Given the description of an element on the screen output the (x, y) to click on. 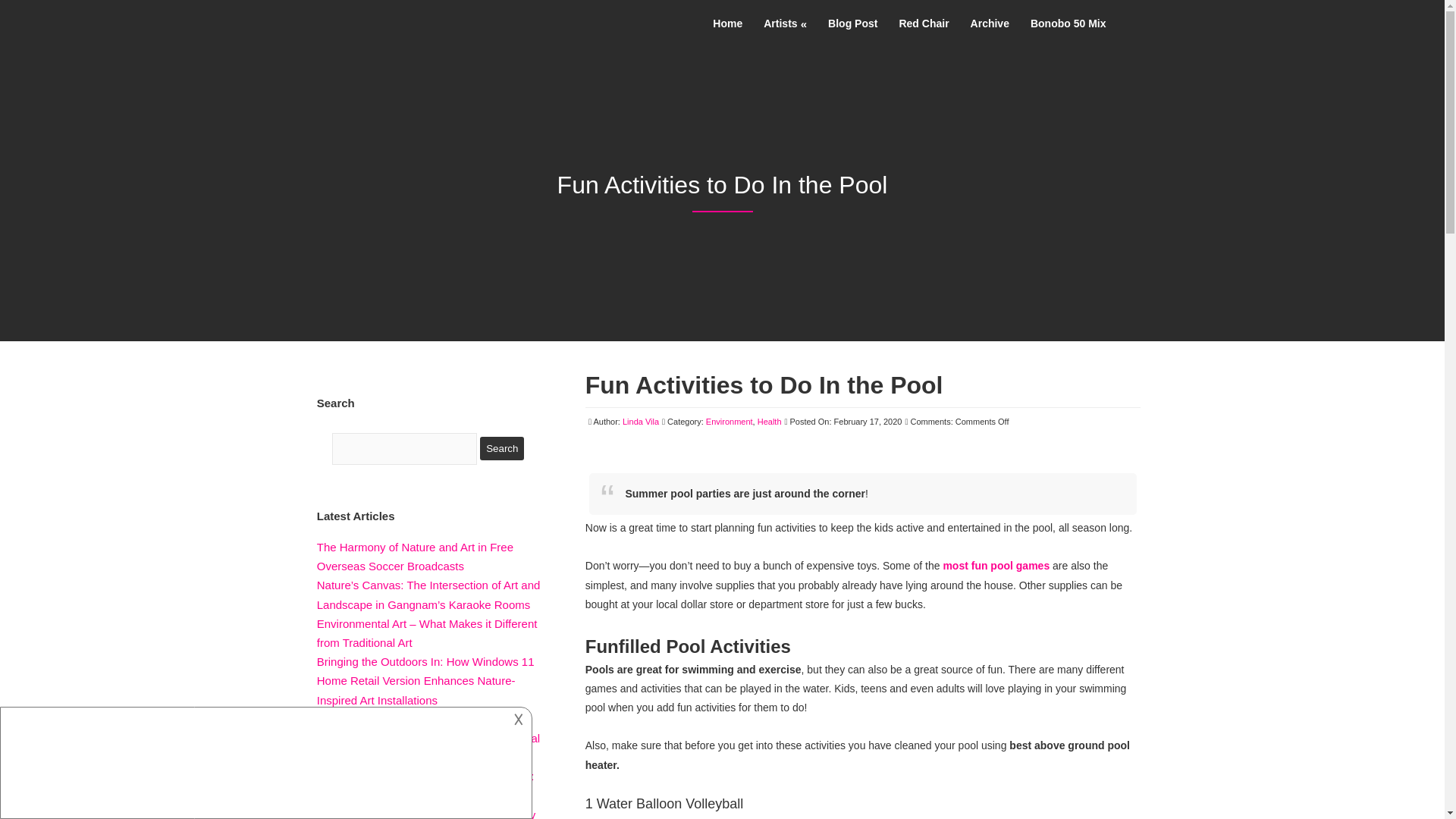
description (264, 760)
Red Chair (923, 23)
Lookin Art (326, 16)
Linda Vila (641, 420)
Fun Activities to Do In the Pool (764, 384)
Archive (989, 23)
Artists (784, 16)
Home (726, 15)
Search (502, 448)
Blog Post (852, 23)
